Given the description of an element on the screen output the (x, y) to click on. 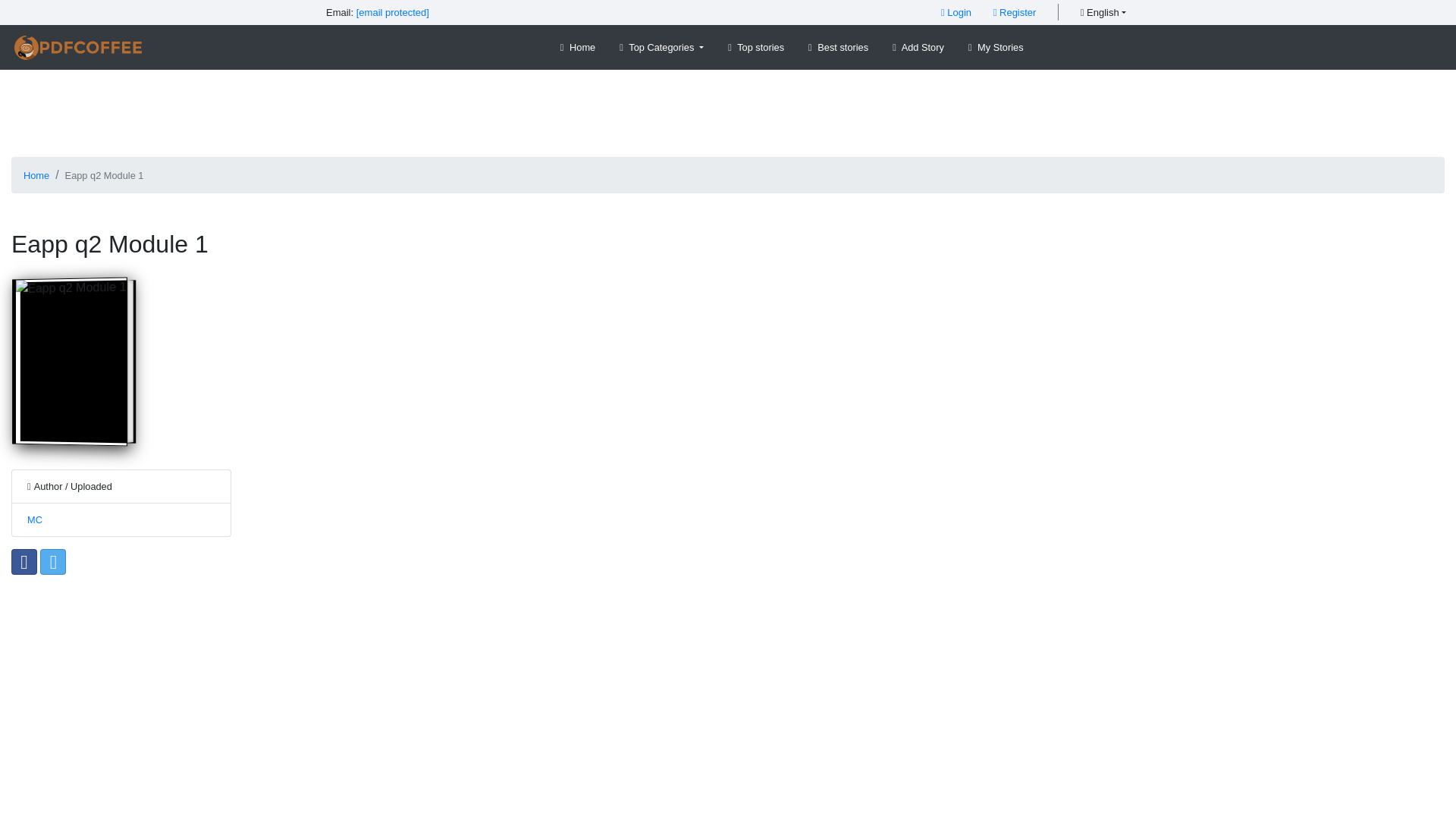
Home (36, 174)
Best stories (838, 47)
My Stories (995, 47)
Add Story (918, 47)
MC (34, 519)
Home (577, 47)
Top stories (756, 47)
Register (1014, 12)
Login (955, 12)
Top Categories (661, 47)
